Given the description of an element on the screen output the (x, y) to click on. 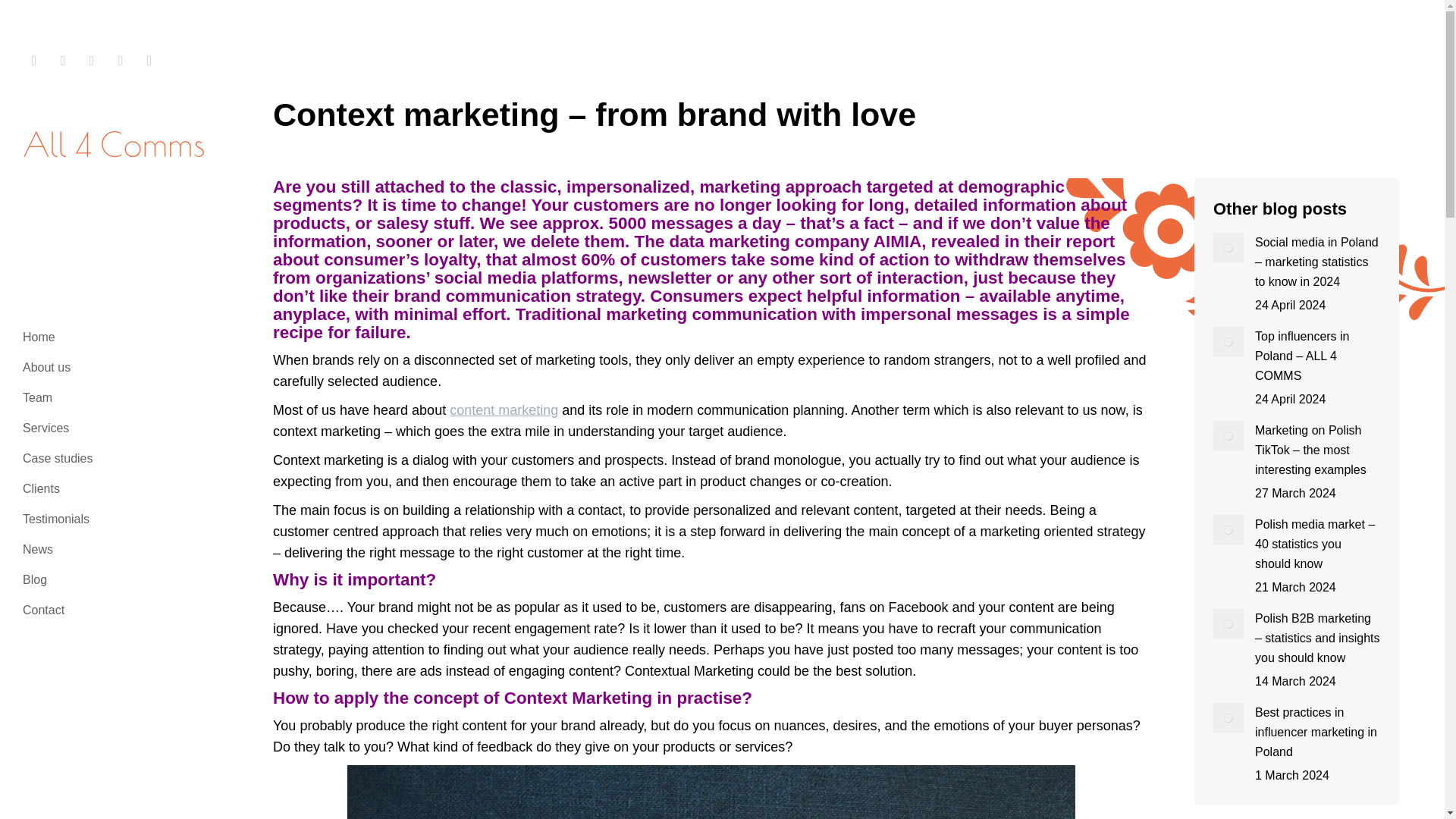
Contact (43, 610)
Linkedin page opens in new window (62, 60)
Services (45, 428)
News (37, 549)
Facebook page opens in new window (120, 60)
Team (37, 398)
Case studies (58, 458)
X page opens in new window (91, 60)
Instagram page opens in new window (34, 60)
Testimonials (55, 519)
